Given the description of an element on the screen output the (x, y) to click on. 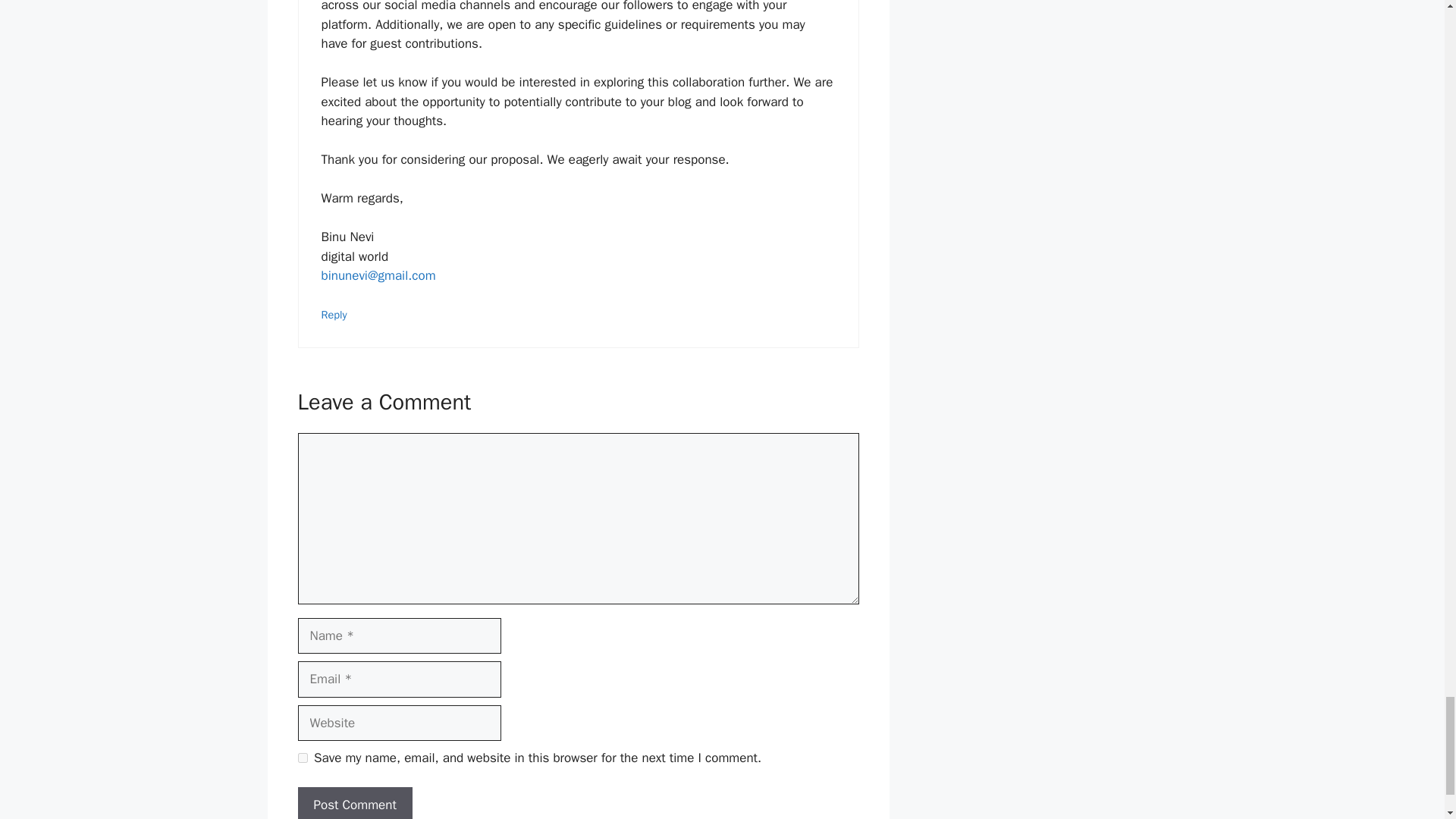
Post Comment (354, 803)
yes (302, 757)
